Given the description of an element on the screen output the (x, y) to click on. 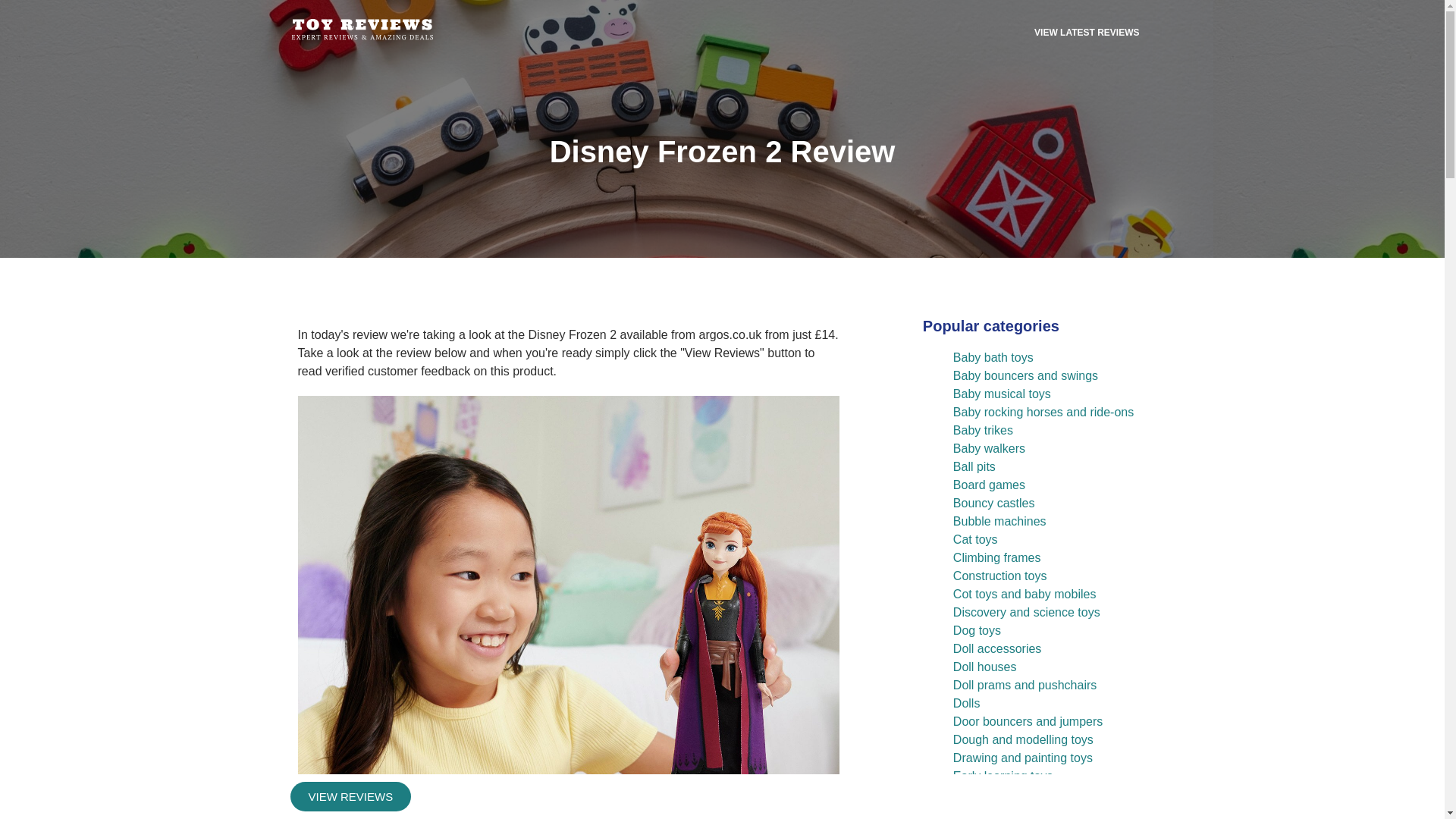
Baby walkers (989, 448)
Baby bouncers and swings (1025, 375)
Baby bath toys (993, 357)
Baby trikes (983, 430)
Baby musical toys (1002, 393)
Baby rocking horses and ride-ons (1043, 411)
VIEW LATEST REVIEWS (1086, 32)
